Given the description of an element on the screen output the (x, y) to click on. 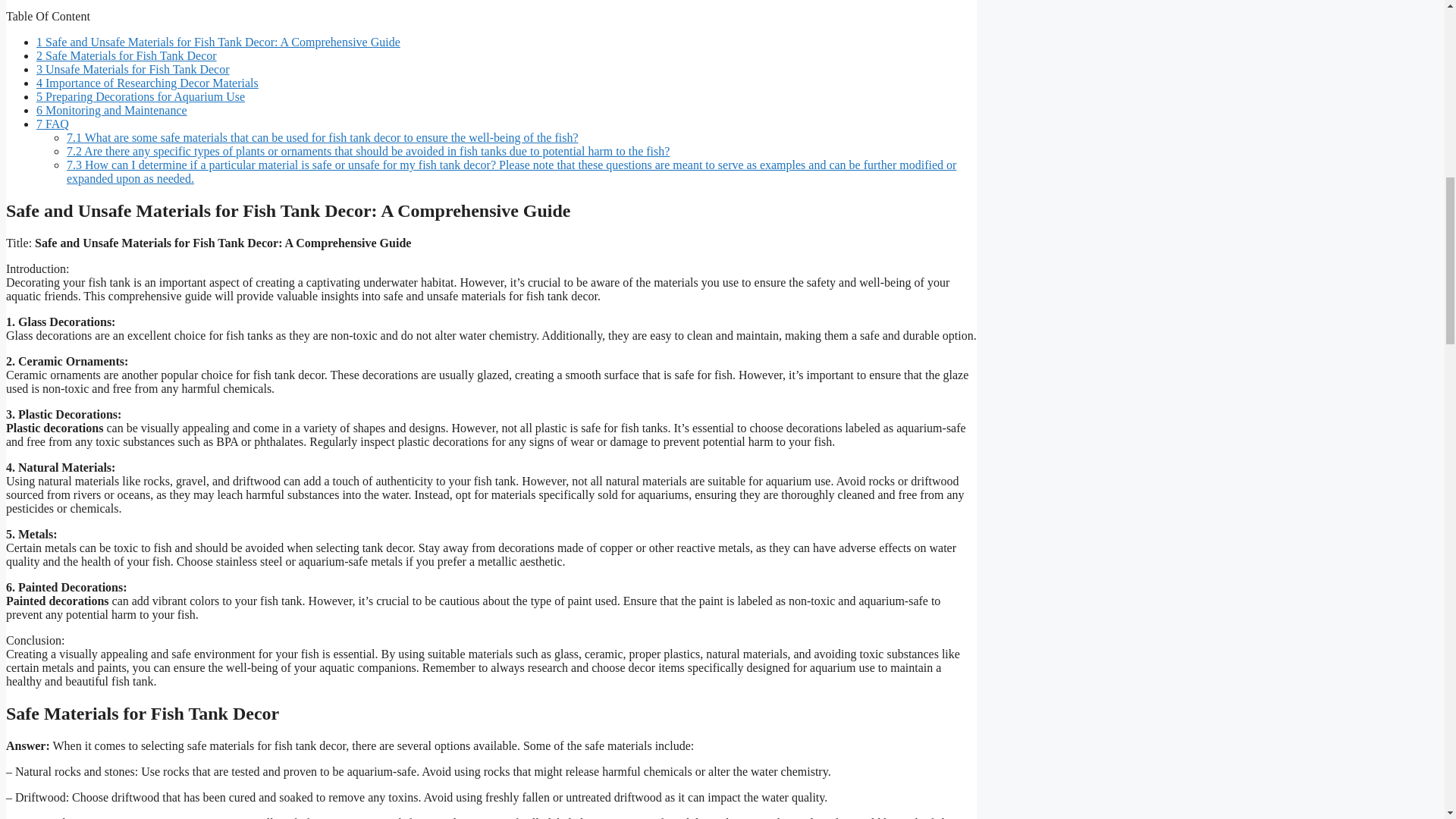
2 Safe Materials for Fish Tank Decor (126, 55)
7 FAQ (52, 123)
4 Importance of Researching Decor Materials (147, 82)
5 Preparing Decorations for Aquarium Use (140, 96)
3 Unsafe Materials for Fish Tank Decor (133, 69)
6 Monitoring and Maintenance (111, 110)
